Given the description of an element on the screen output the (x, y) to click on. 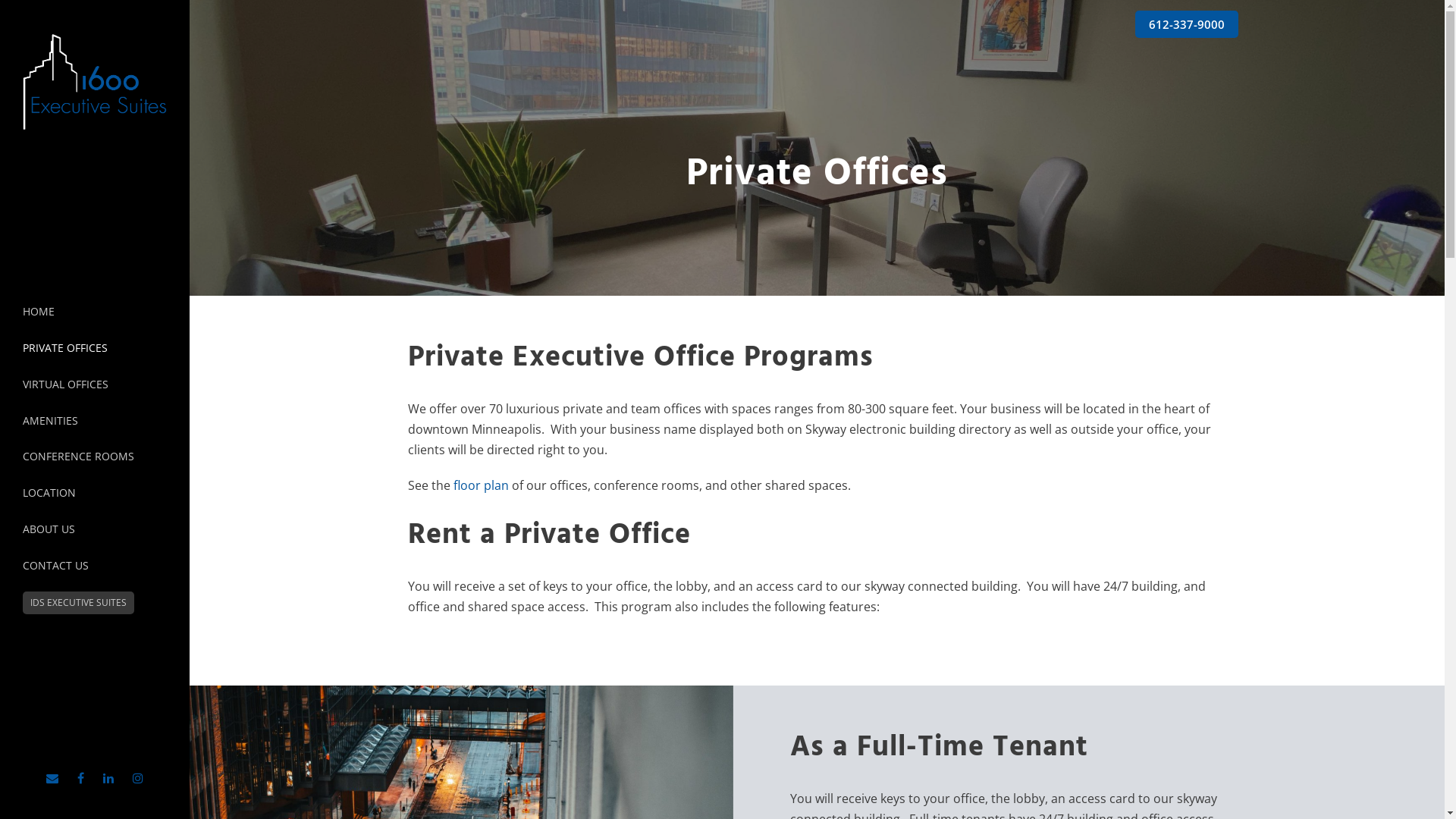
CONTACT US Element type: text (94, 565)
AMENITIES Element type: text (94, 420)
HOME Element type: text (94, 311)
LOCATION Element type: text (94, 492)
email Element type: hover (52, 777)
612-337-9000 Element type: text (1185, 23)
CONFERENCE ROOMS Element type: text (94, 456)
linkedin Element type: hover (108, 777)
PRIVATE OFFICES Element type: text (94, 347)
1600 Executive Suites Element type: hover (94, 81)
facebook Element type: hover (80, 777)
instagram Element type: hover (137, 777)
IDS EXECUTIVE SUITES Element type: text (78, 602)
VIRTUAL OFFICES Element type: text (94, 384)
ABOUT US Element type: text (94, 529)
floor plan Element type: text (480, 484)
